Given the description of an element on the screen output the (x, y) to click on. 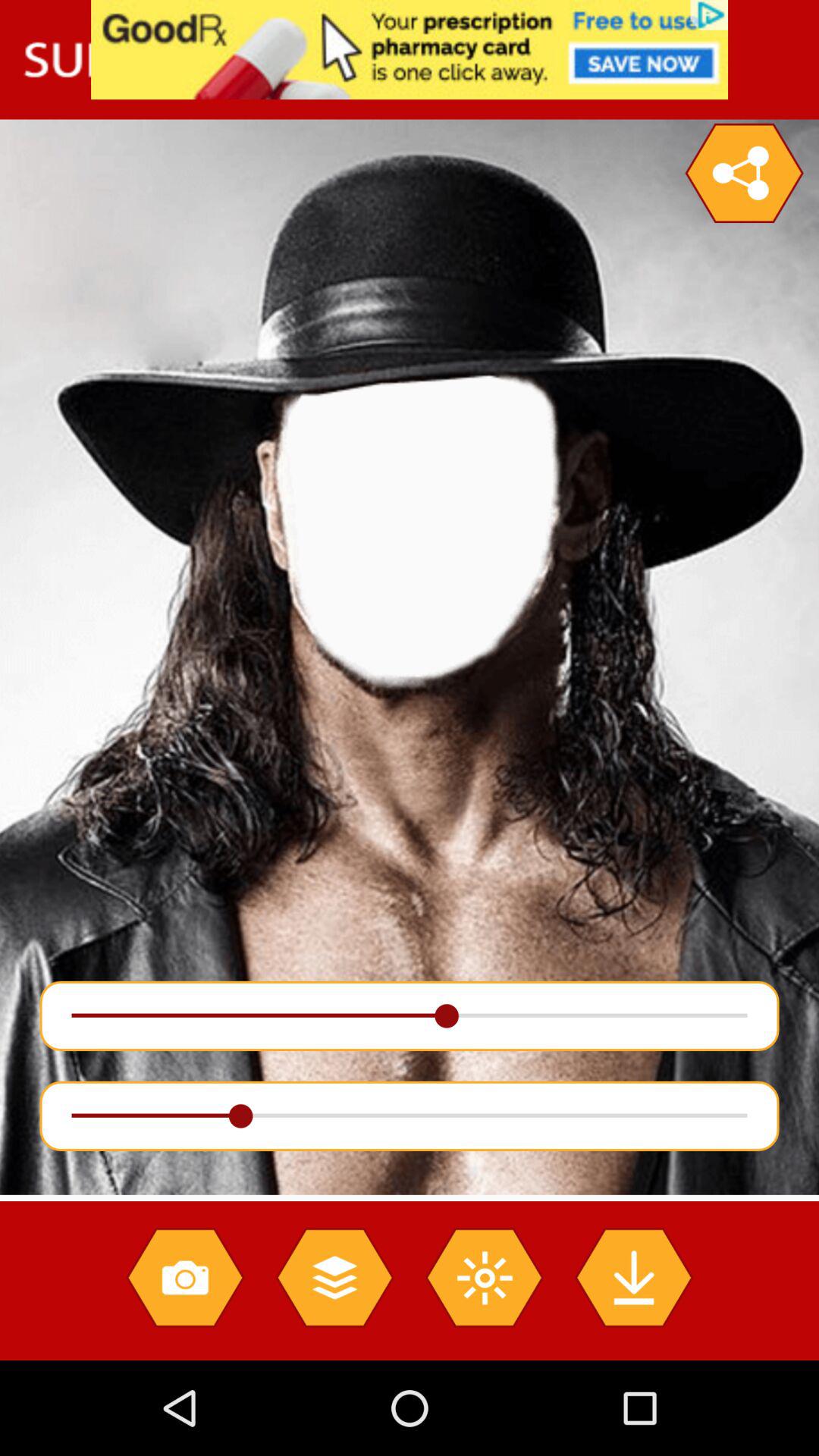
camera icon (184, 1277)
